Given the description of an element on the screen output the (x, y) to click on. 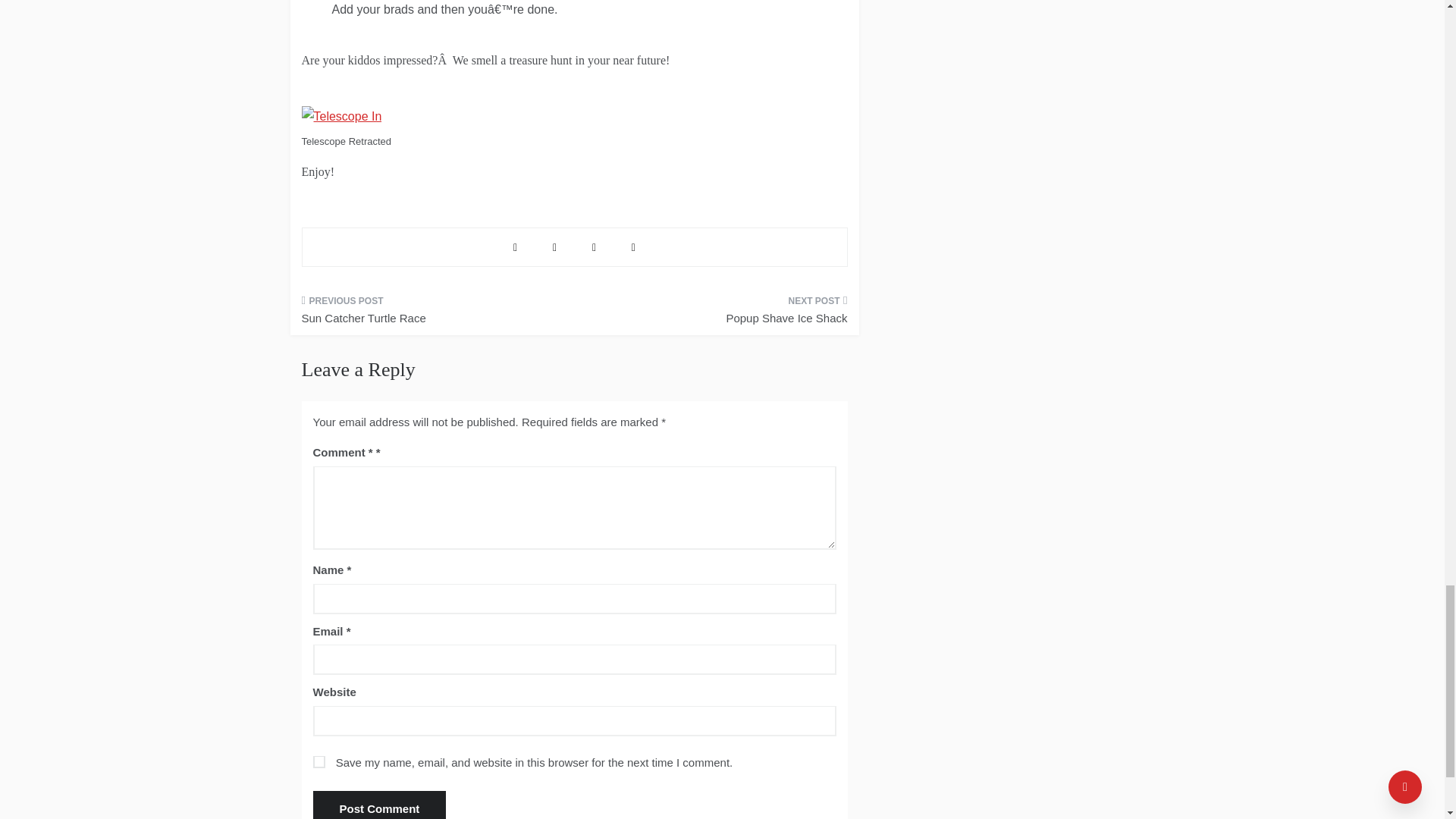
Sun Catcher Turtle Race (432, 314)
Popup Shave Ice Shack (716, 314)
yes (318, 761)
Telescope-in (341, 116)
Post Comment (379, 805)
Post Comment (379, 805)
